Given the description of an element on the screen output the (x, y) to click on. 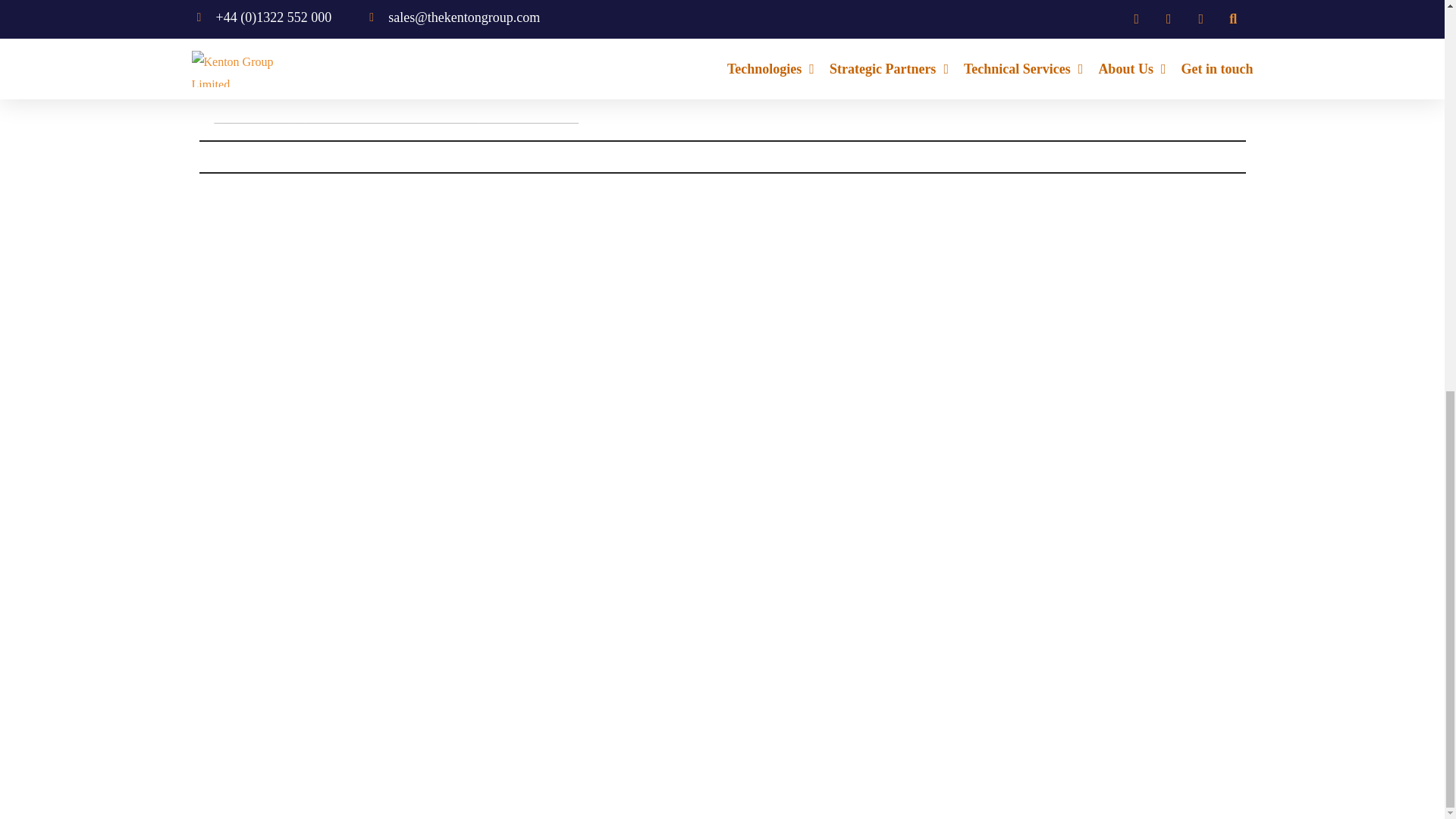
RAD at Mobile World Congress 2014 2 (387, 4)
RAD at Mobile World Congress 2014 3 (1187, 7)
